Given the description of an element on the screen output the (x, y) to click on. 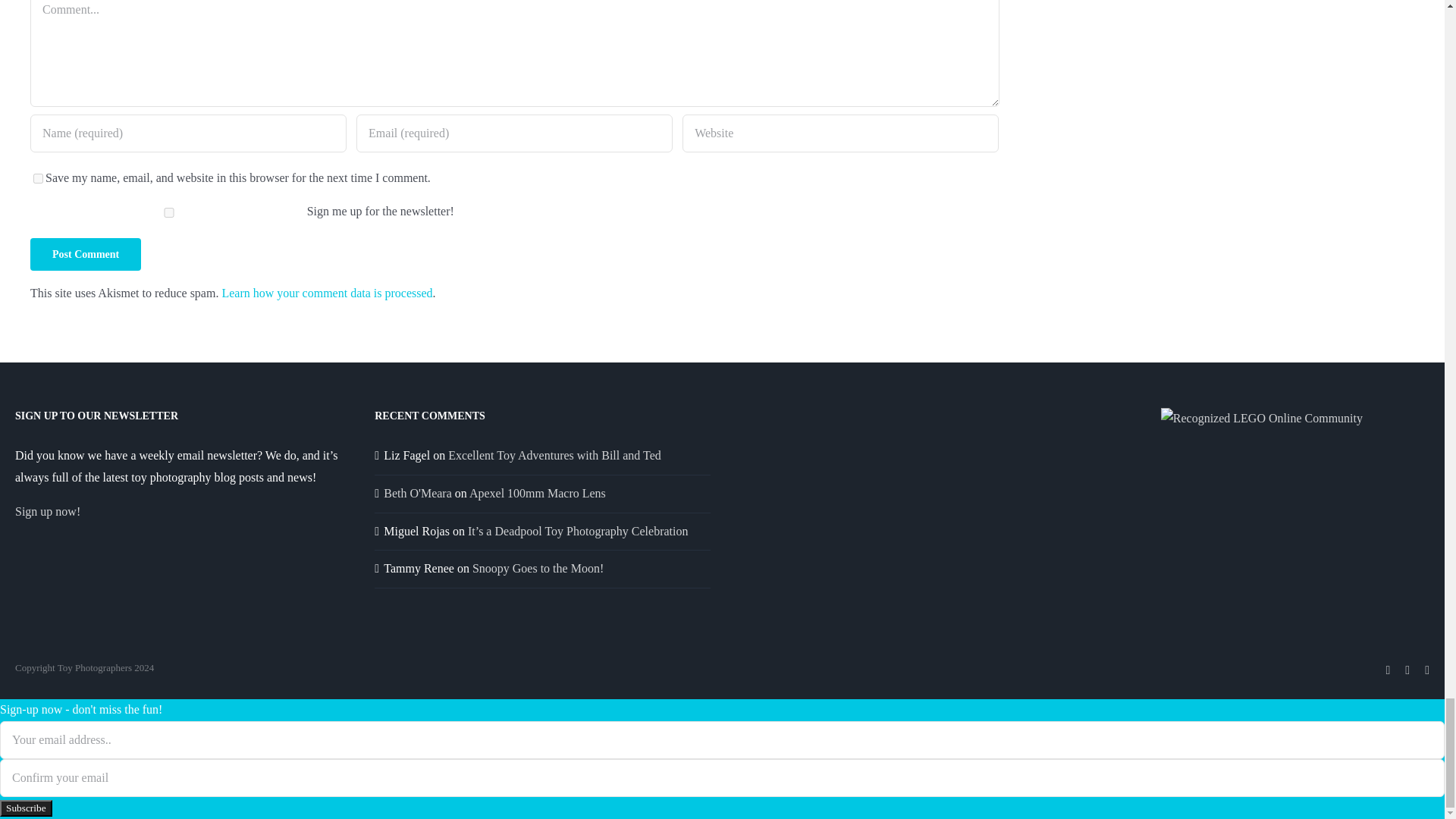
yes (38, 178)
Post Comment (85, 254)
1 (168, 212)
Subscribe (26, 808)
